Given the description of an element on the screen output the (x, y) to click on. 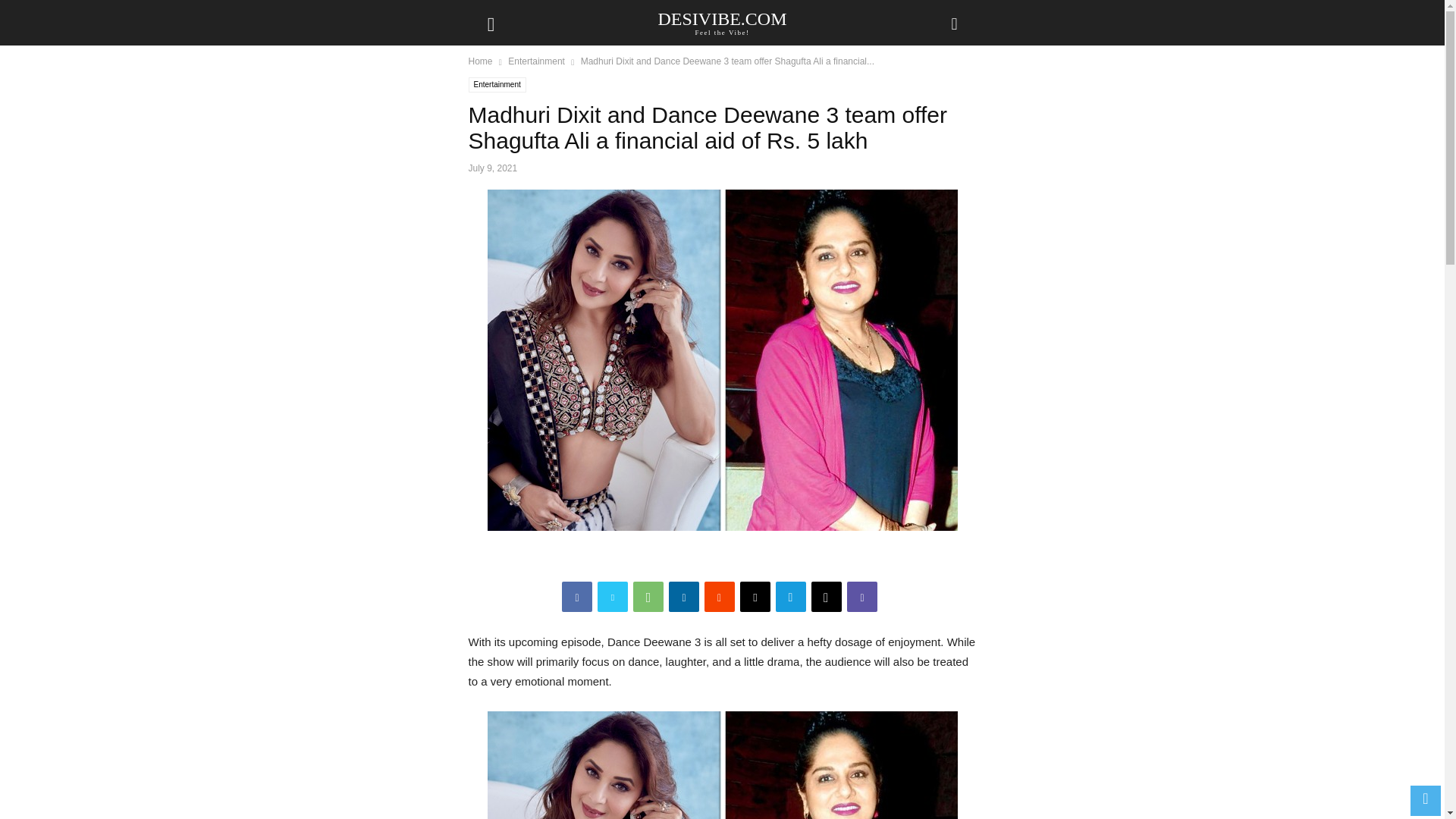
View all posts in Entertainment (536, 61)
Home (722, 22)
Entertainment (480, 61)
Entertainment (496, 84)
